Given the description of an element on the screen output the (x, y) to click on. 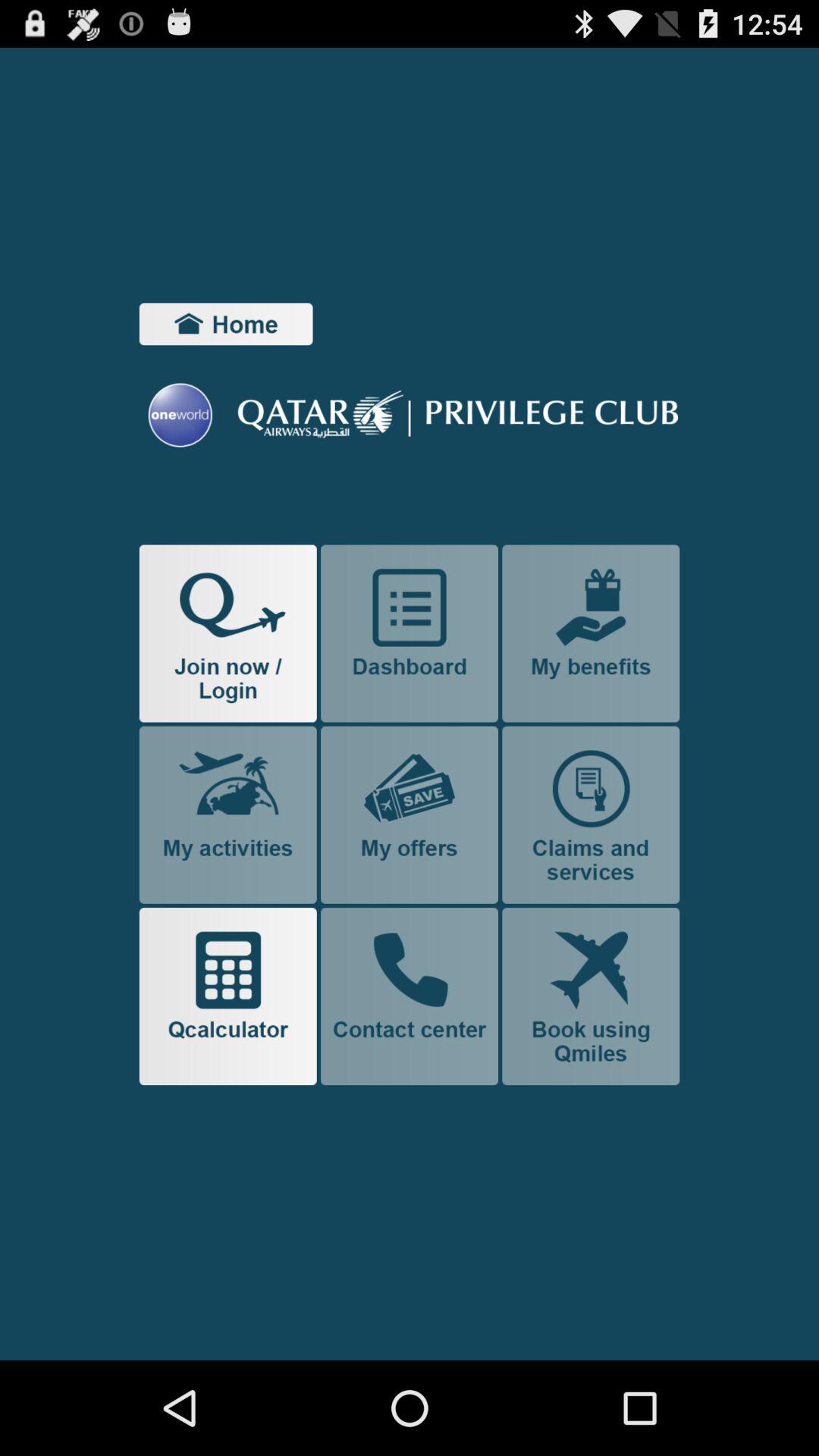
qcalculator (227, 996)
